Given the description of an element on the screen output the (x, y) to click on. 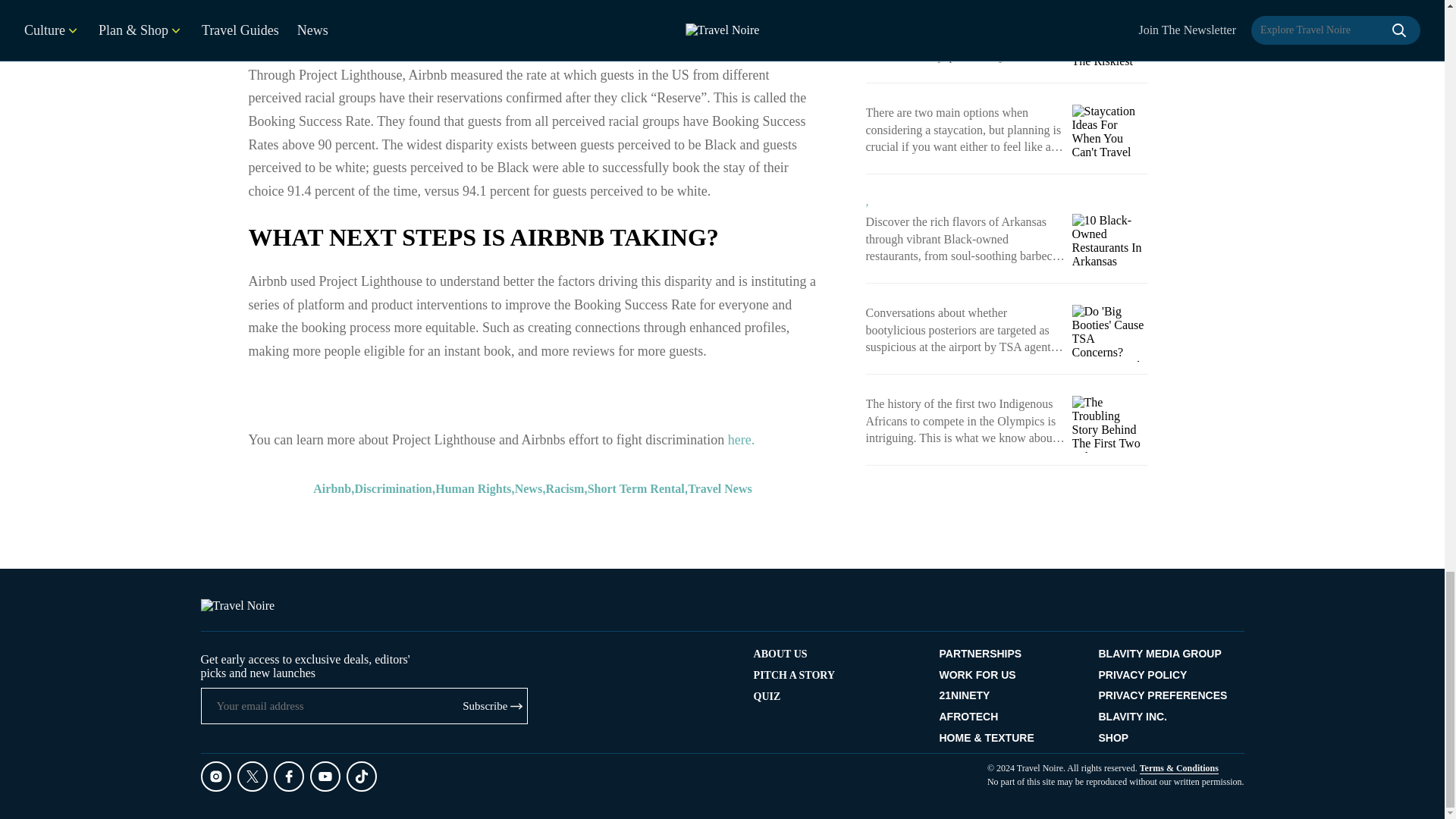
News (528, 42)
Staycation Ideas For When You Can't Travel (1109, 132)
Short Term Rental (636, 42)
Racism (565, 42)
Travel News (719, 42)
Travel Noire (237, 605)
10 Black-Owned Restaurants In Arkansas (1109, 242)
Human Rights (473, 42)
Discrimination (393, 42)
Airbnb (331, 42)
